Given the description of an element on the screen output the (x, y) to click on. 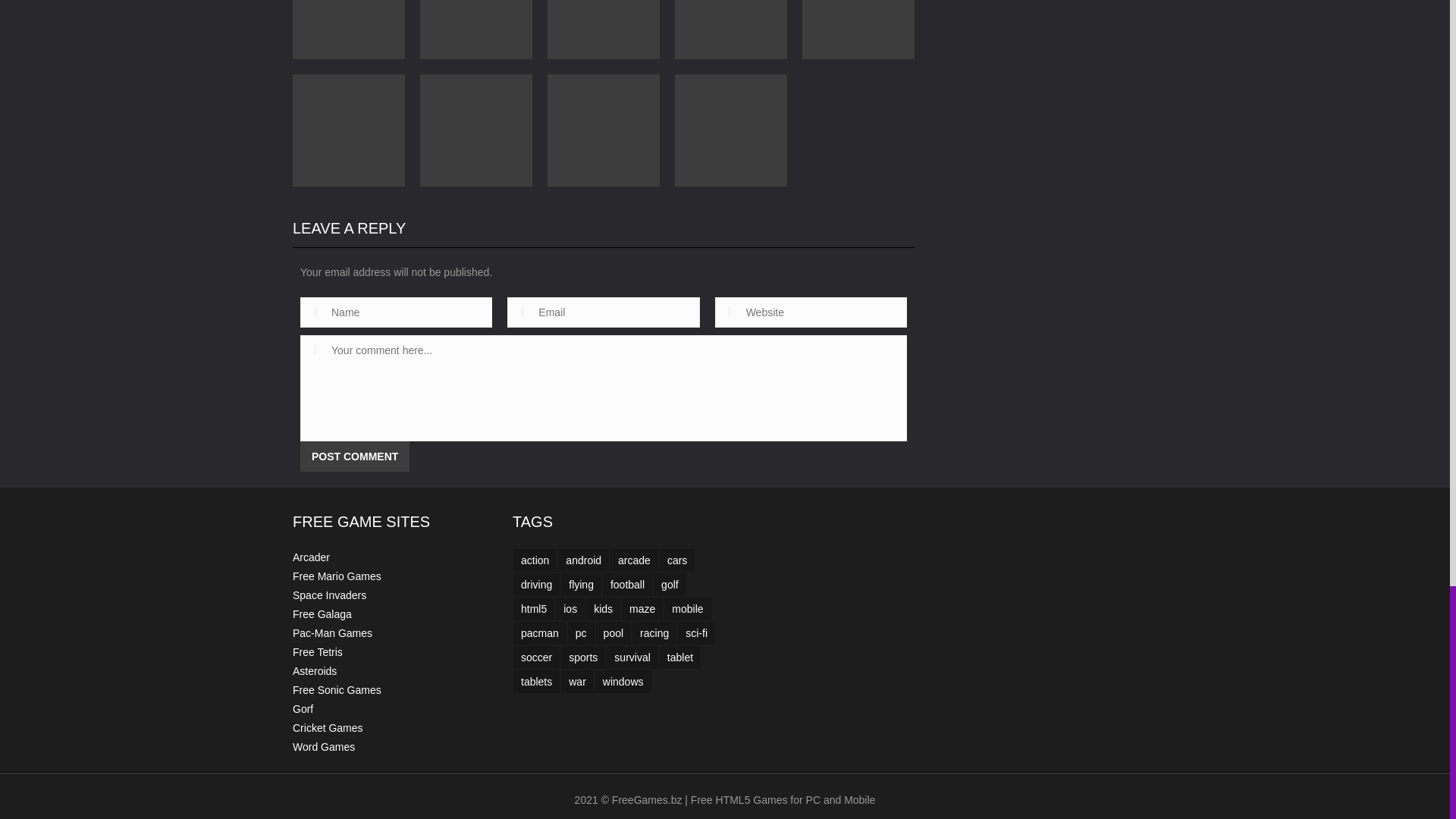
Post Comment (354, 456)
